Given the description of an element on the screen output the (x, y) to click on. 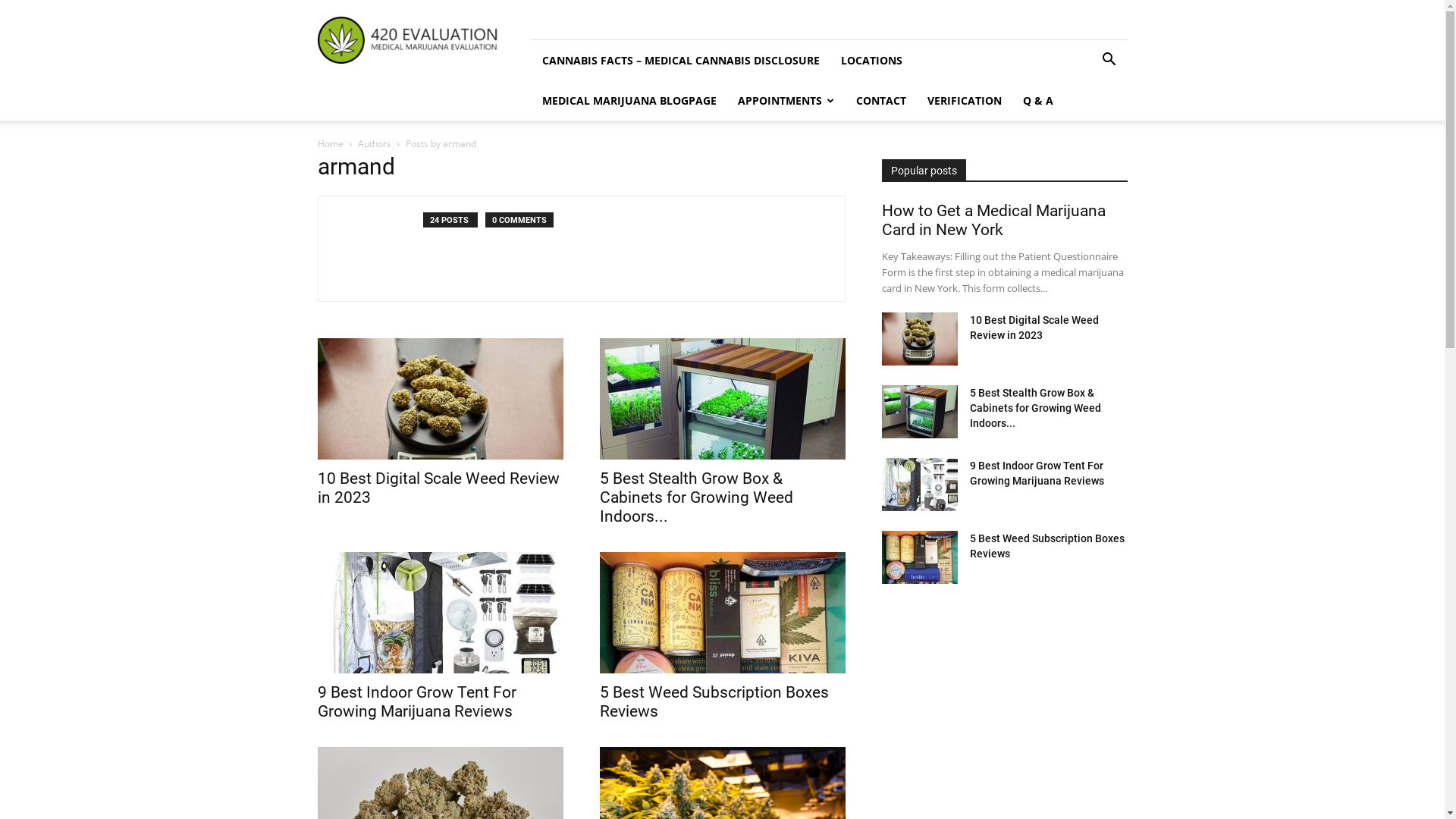
9 Best Indoor Grow Tent For Growing Marijuana Reviews Element type: text (415, 701)
5 Best Weed Subscription Boxes Reviews Element type: text (713, 701)
9 Best Indoor Grow Tent For Growing Marijuana Reviews Element type: text (1036, 472)
LOCATIONS Element type: text (870, 60)
APPOINTMENTS Element type: text (785, 100)
5 Best Weed Subscription Boxes Reviews Element type: text (1046, 545)
Q & A Element type: text (1037, 100)
9 Best Indoor Grow Tent For Growing Marijuana Reviews Element type: hover (919, 484)
10 Best Digital Scale Weed Review in 2023 Element type: text (437, 487)
Home Element type: text (329, 143)
How to Get a Medical Marijuana Card in New York Element type: text (992, 219)
10 Best Digital Scale Weed Review in 2023 Element type: hover (919, 338)
MEDICAL MARIJUANA BLOGPAGE Element type: text (628, 100)
10 Best Digital Scale Weed Review in 2023 Element type: text (1033, 327)
VERIFICATION Element type: text (963, 100)
9 Best Indoor Grow Tent For Growing Marijuana Reviews Element type: hover (439, 612)
Search Element type: text (1085, 122)
10 Best Digital Scale Weed Review in 2023 Element type: hover (439, 398)
CONTACT Element type: text (880, 100)
5 Best Weed Subscription Boxes Reviews Element type: hover (919, 556)
5 Best Weed Subscription Boxes Reviews Element type: hover (721, 612)
